Given the description of an element on the screen output the (x, y) to click on. 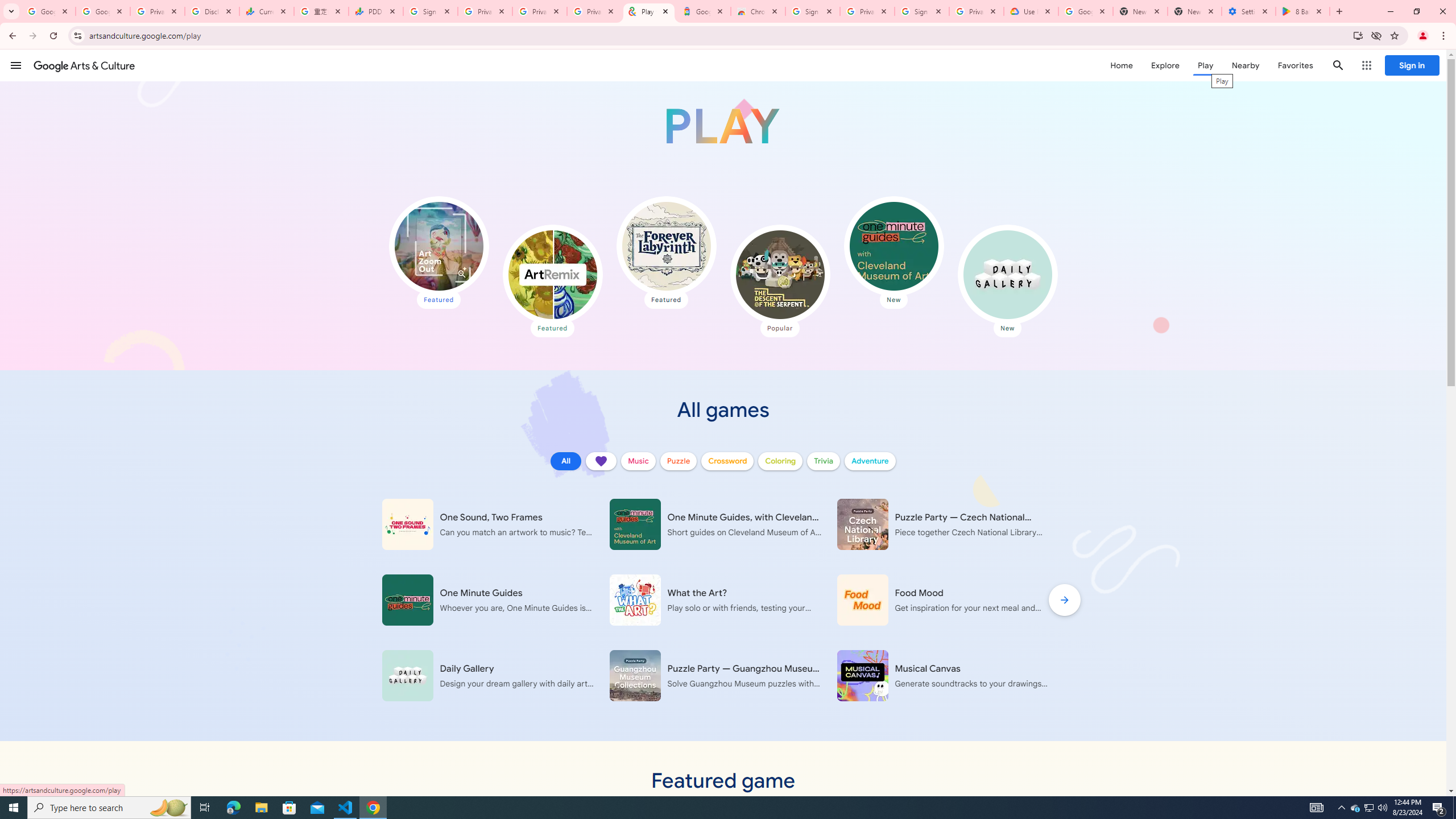
Home (1120, 65)
The Descent of the Serpent (779, 274)
Install Google Arts & Culture (1358, 35)
Google Workspace Admin Community (48, 11)
Google Arts & Culture (84, 65)
